Given the description of an element on the screen output the (x, y) to click on. 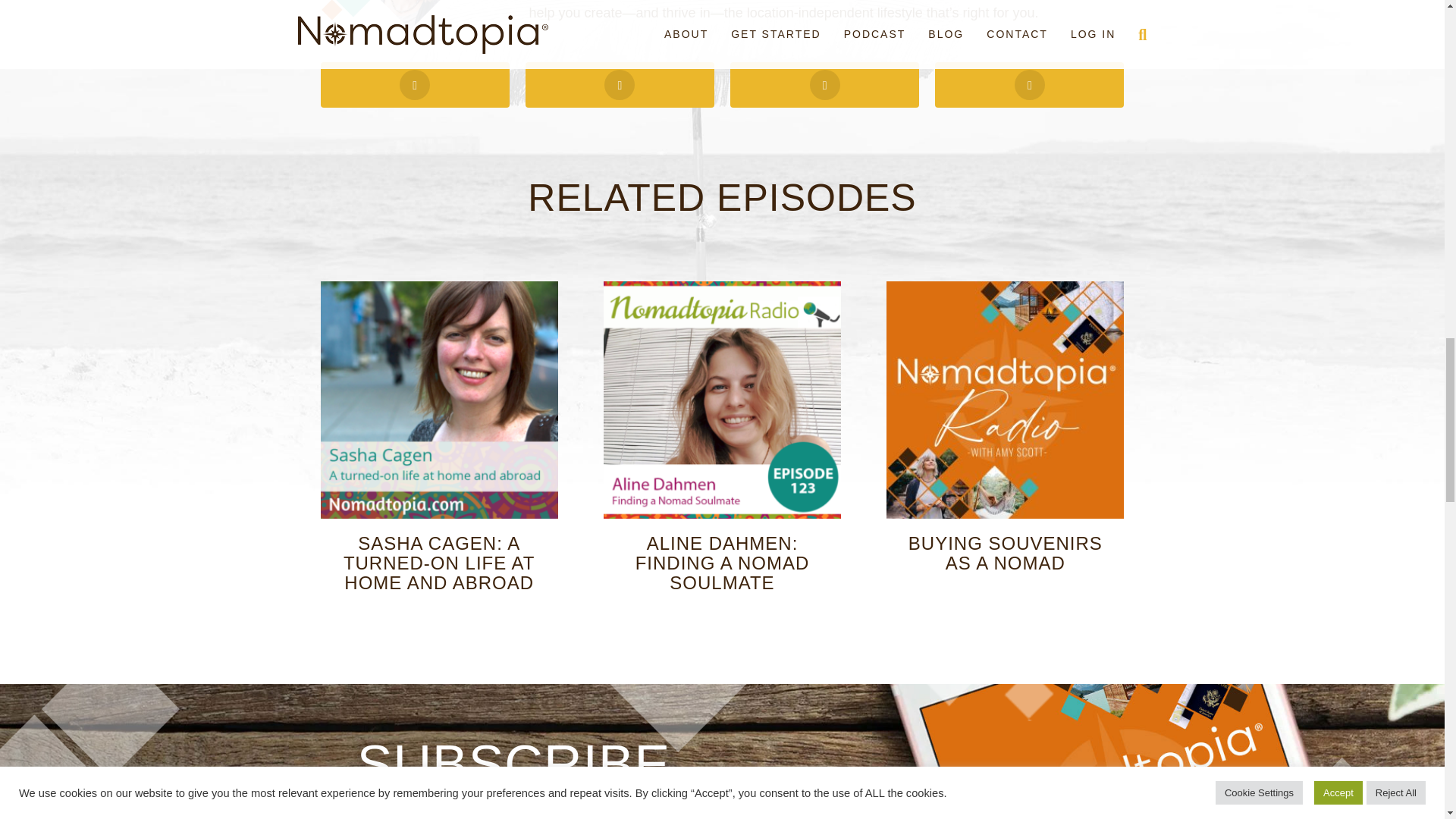
ALINE DAHMEN: FINDING A NOMAD SOULMATE (721, 562)
Aline Dahmen: Finding a Nomad Soulmate (722, 398)
Sasha Cagen: A turned-on life at home and abroad (438, 398)
Aline Dahmen: Finding a Nomad Soulmate (721, 562)
Buying Souvenirs as a Nomad (1005, 553)
SASHA CAGEN: A TURNED-ON LIFE AT HOME AND ABROAD (439, 562)
Buying Souvenirs as a Nomad (1005, 398)
Nomadtopia-About (408, 15)
Sasha Cagen: A turned-on life at home and abroad (439, 562)
BUYING SOUVENIRS AS A NOMAD (1005, 553)
